Given the description of an element on the screen output the (x, y) to click on. 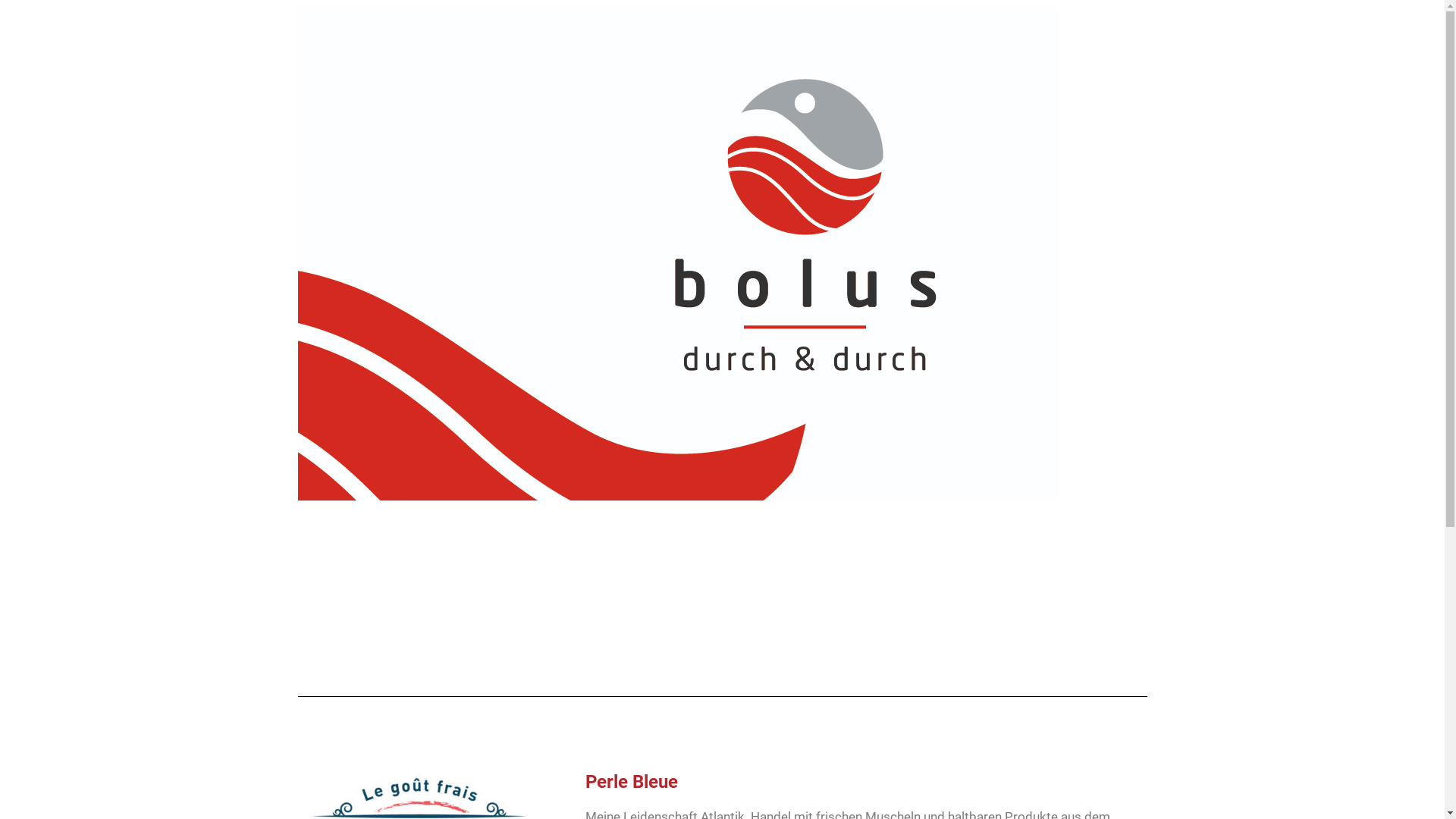
Zum Inhalt springen Element type: text (11, 31)
